Given the description of an element on the screen output the (x, y) to click on. 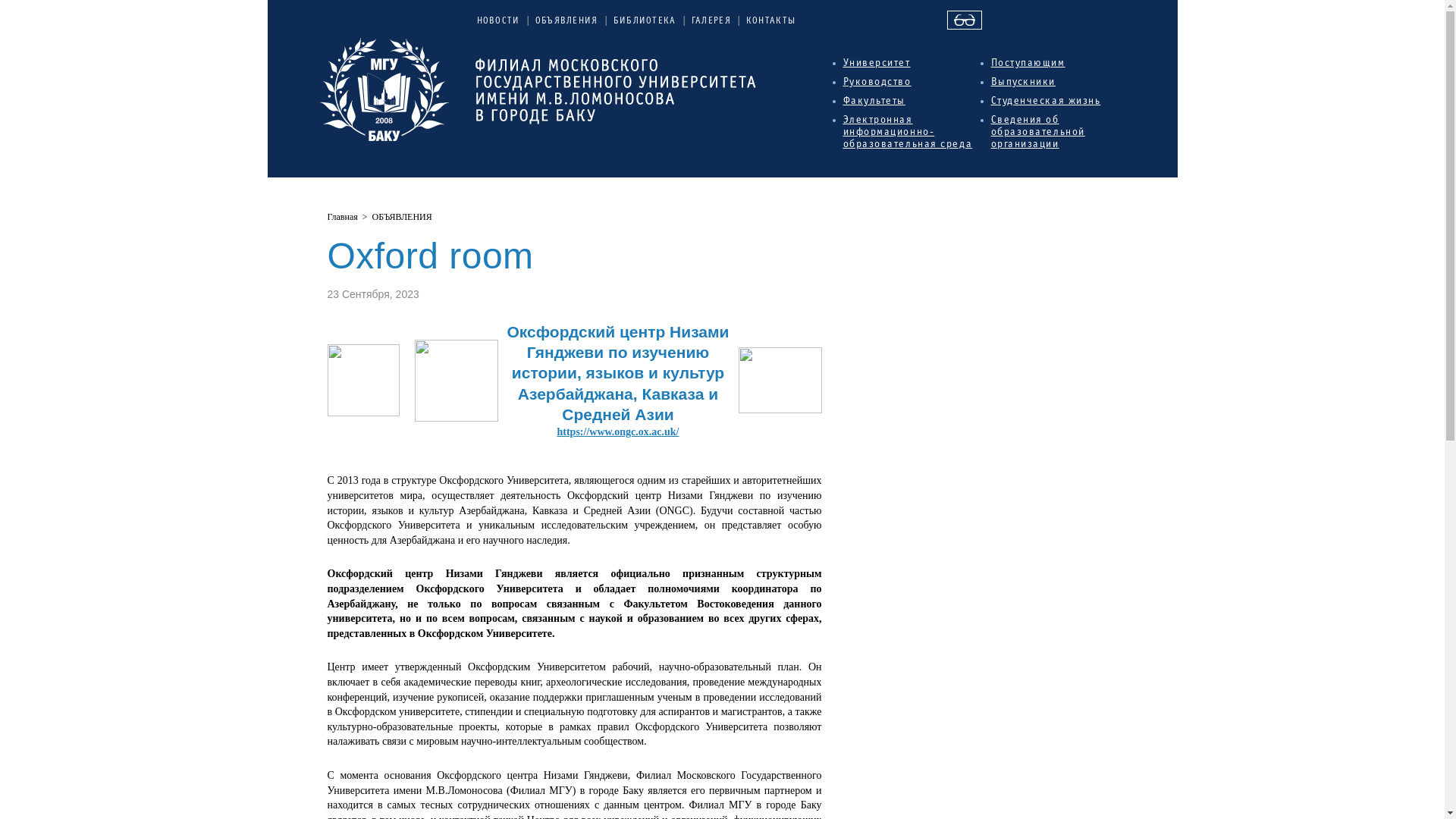
https://www.ongc.ox.ac.uk/ Element type: text (617, 431)
